Given the description of an element on the screen output the (x, y) to click on. 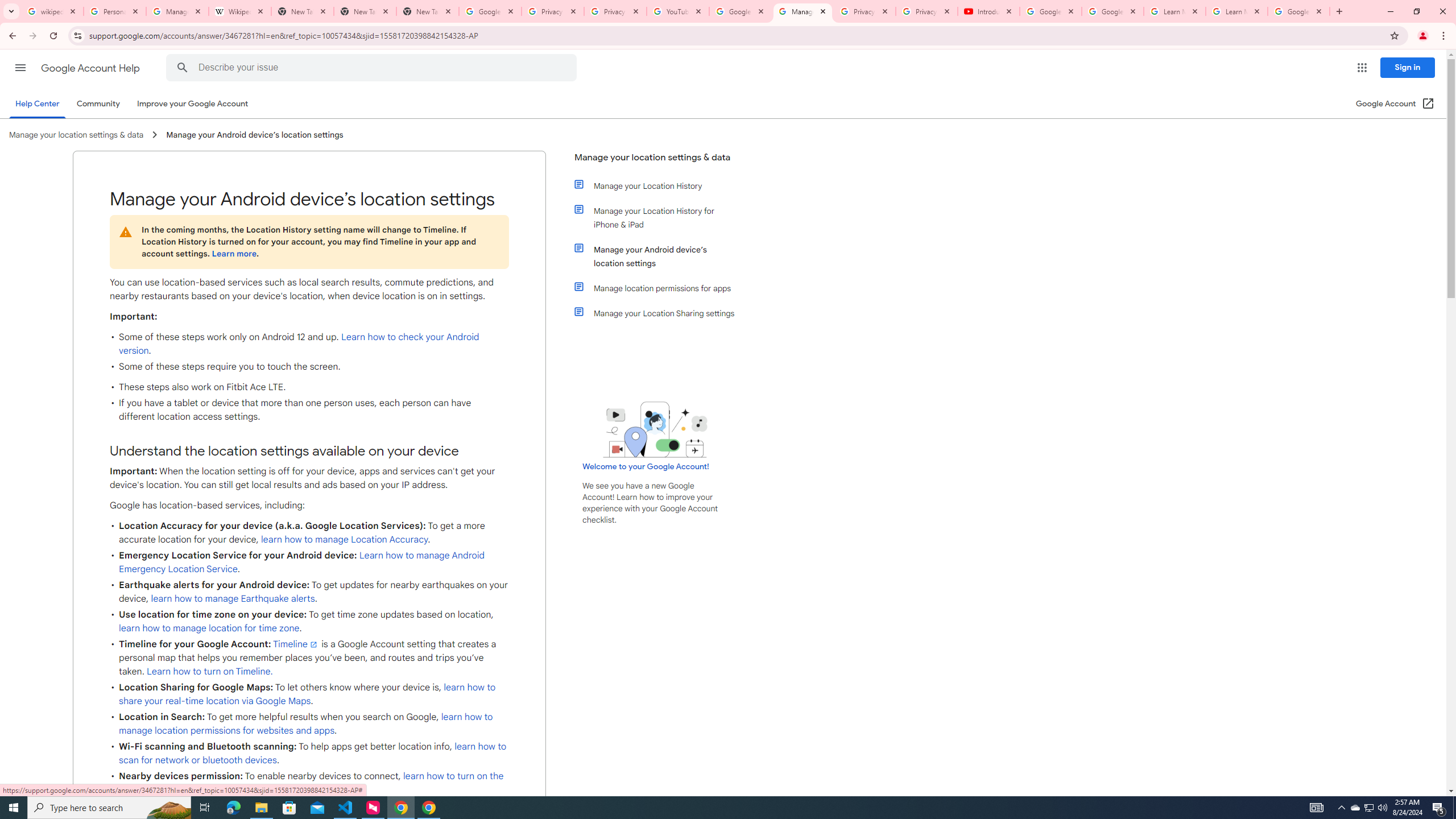
Personalization & Google Search results - Google Search Help (114, 11)
Wikipedia:Edit requests - Wikipedia (239, 11)
New Tab (427, 11)
Introduction | Google Privacy Policy - YouTube (988, 11)
Google Account Help (1111, 11)
Google Account Help (740, 11)
Main menu (20, 67)
